Given the description of an element on the screen output the (x, y) to click on. 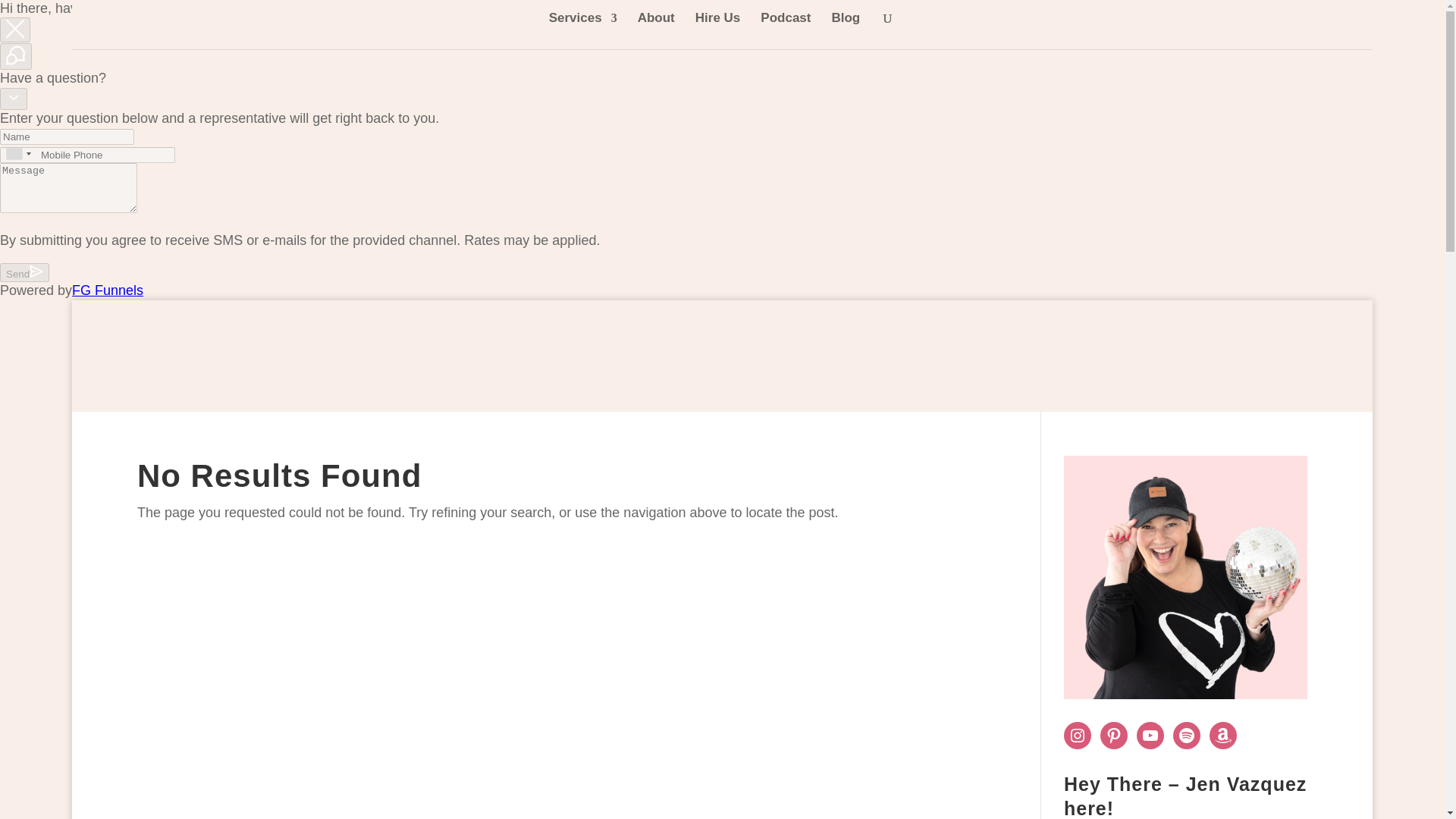
Instagram (1077, 735)
Amazon (1222, 735)
Services (582, 31)
Spotify (1186, 735)
Podcast (785, 31)
YouTube (1150, 735)
Hire Us (718, 31)
Pinterest (1113, 735)
About (656, 31)
